Given the description of an element on the screen output the (x, y) to click on. 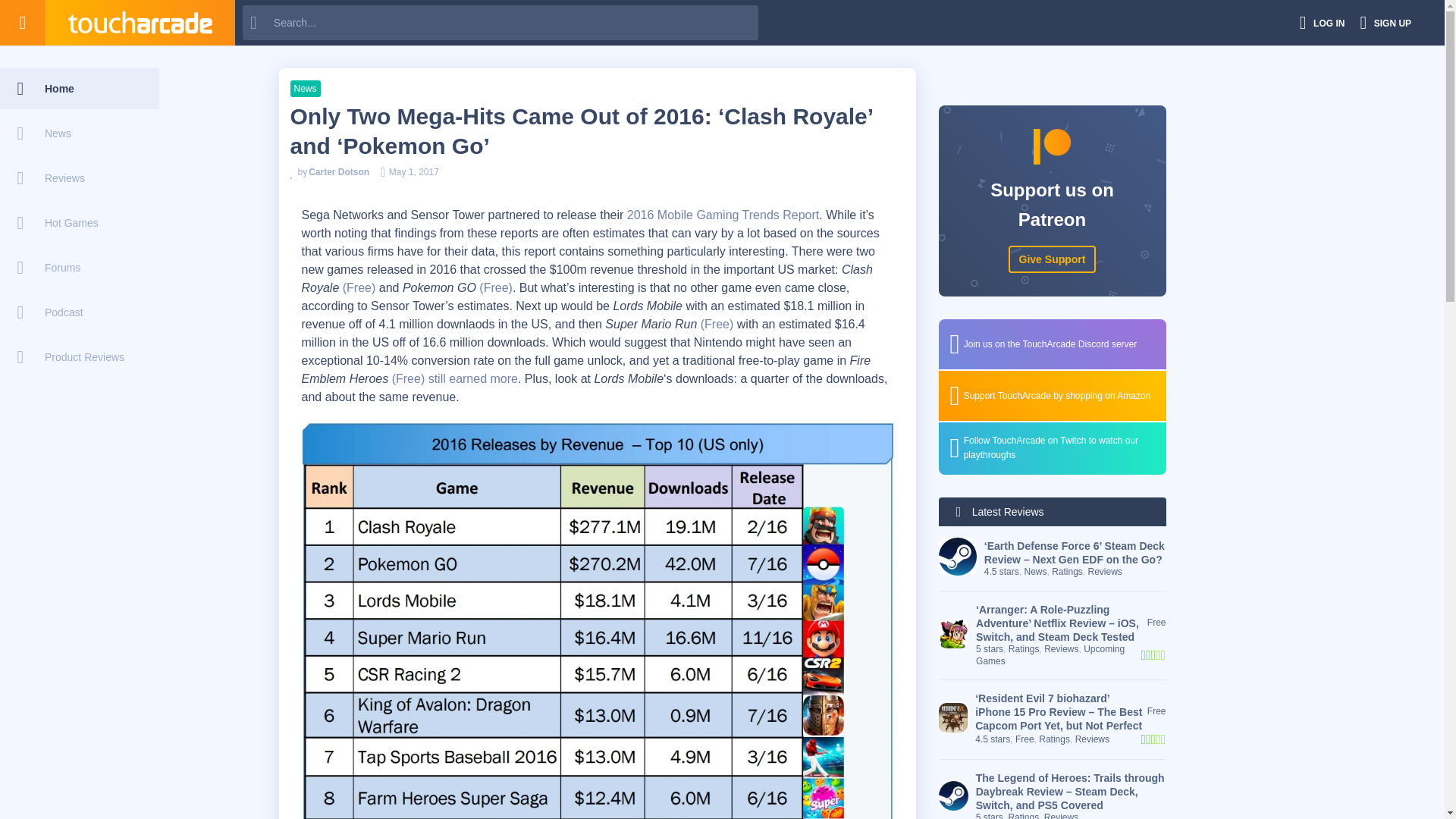
Hot Games (79, 222)
LOG IN (1322, 22)
SIGN UP (1385, 22)
News (79, 133)
Enter your search and hit enter (500, 22)
Home (79, 87)
Podcast (79, 311)
Reviews (79, 178)
Product Reviews (79, 356)
Forums (79, 267)
News (304, 88)
